Given the description of an element on the screen output the (x, y) to click on. 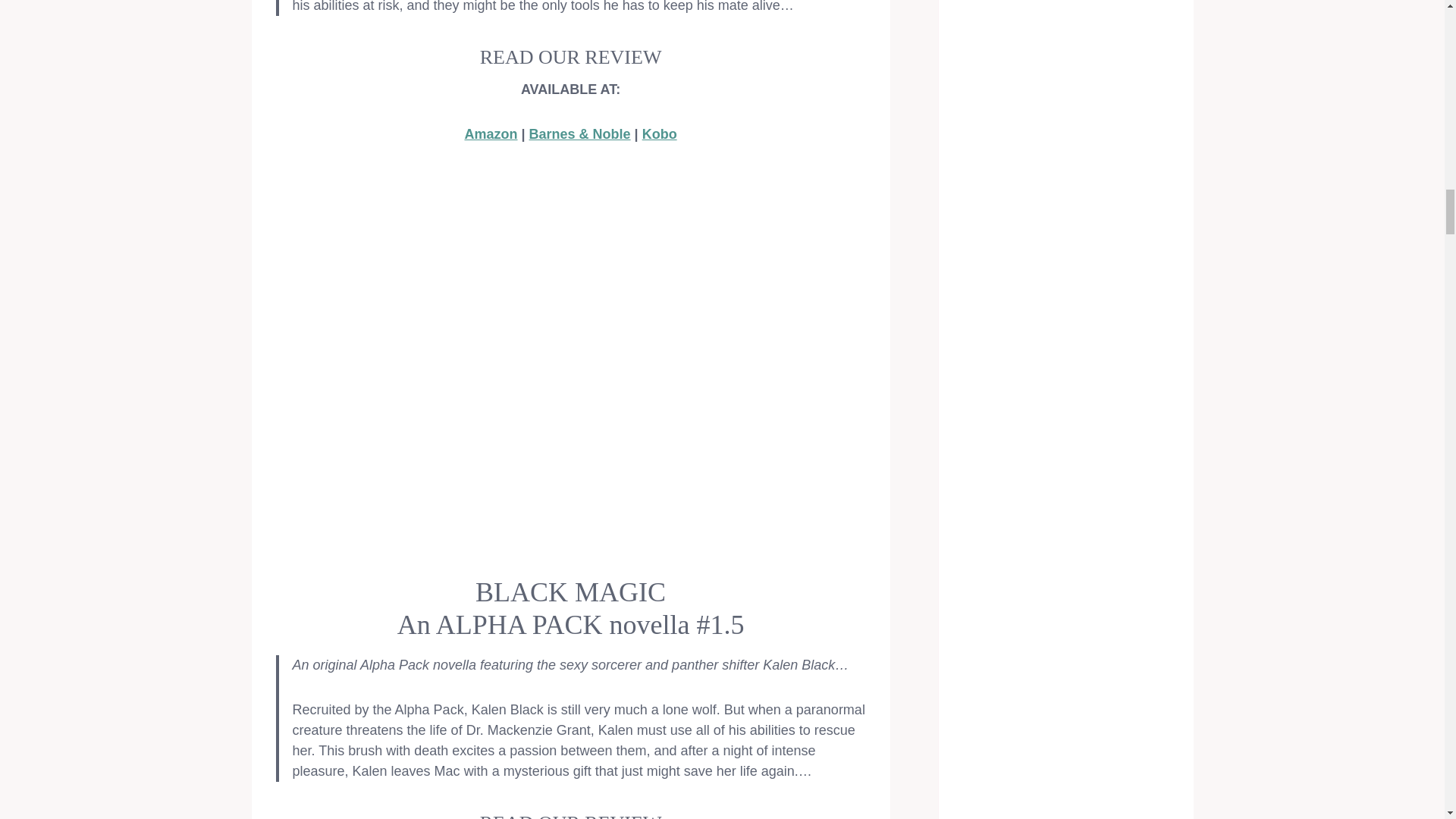
READ OUR REVIEW (571, 56)
Kobo (659, 133)
READ OUR REVIEW (571, 815)
Amazon (490, 133)
